Given the description of an element on the screen output the (x, y) to click on. 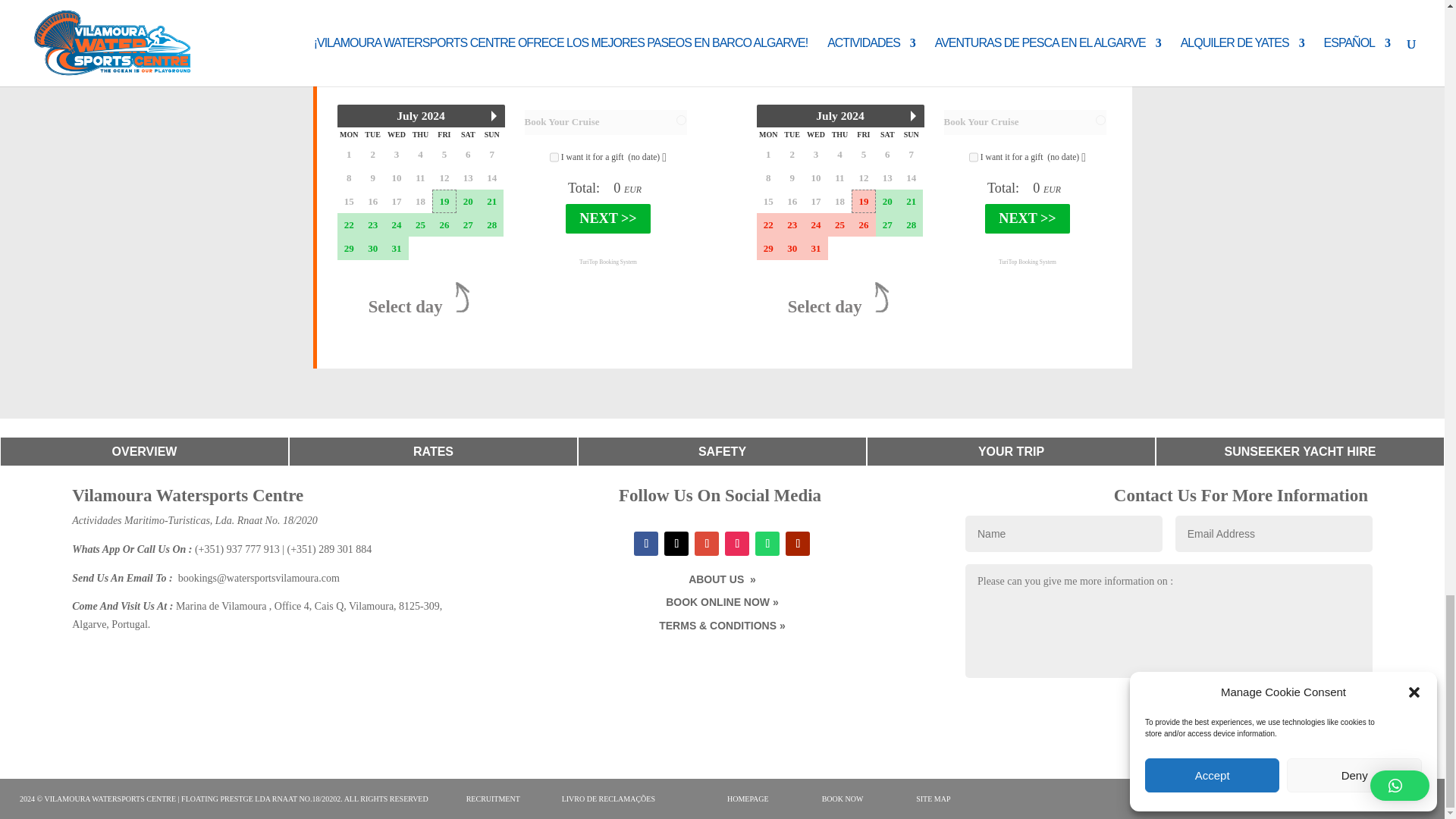
Seguir en Instagram (737, 543)
Seguir en X (675, 543)
Seguir en google-plus (706, 543)
Seguir en Facebook (645, 543)
